Given the description of an element on the screen output the (x, y) to click on. 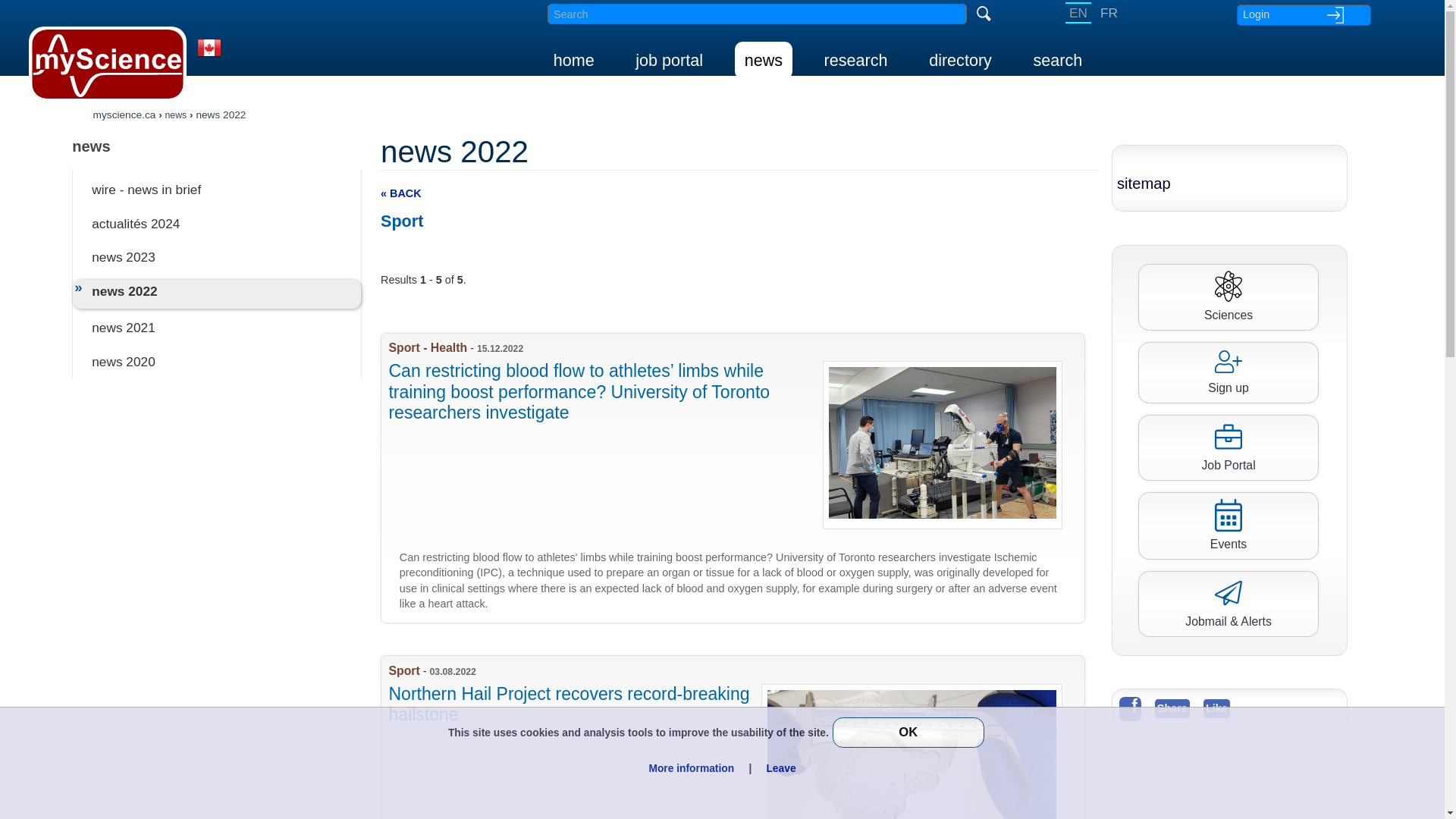
EN (1077, 12)
news 2022 (220, 114)
myScience Home (107, 63)
news (176, 114)
Login (1303, 14)
About myscience.ca (208, 57)
UWO (738, 737)
research (855, 59)
directory (959, 59)
